Given the description of an element on the screen output the (x, y) to click on. 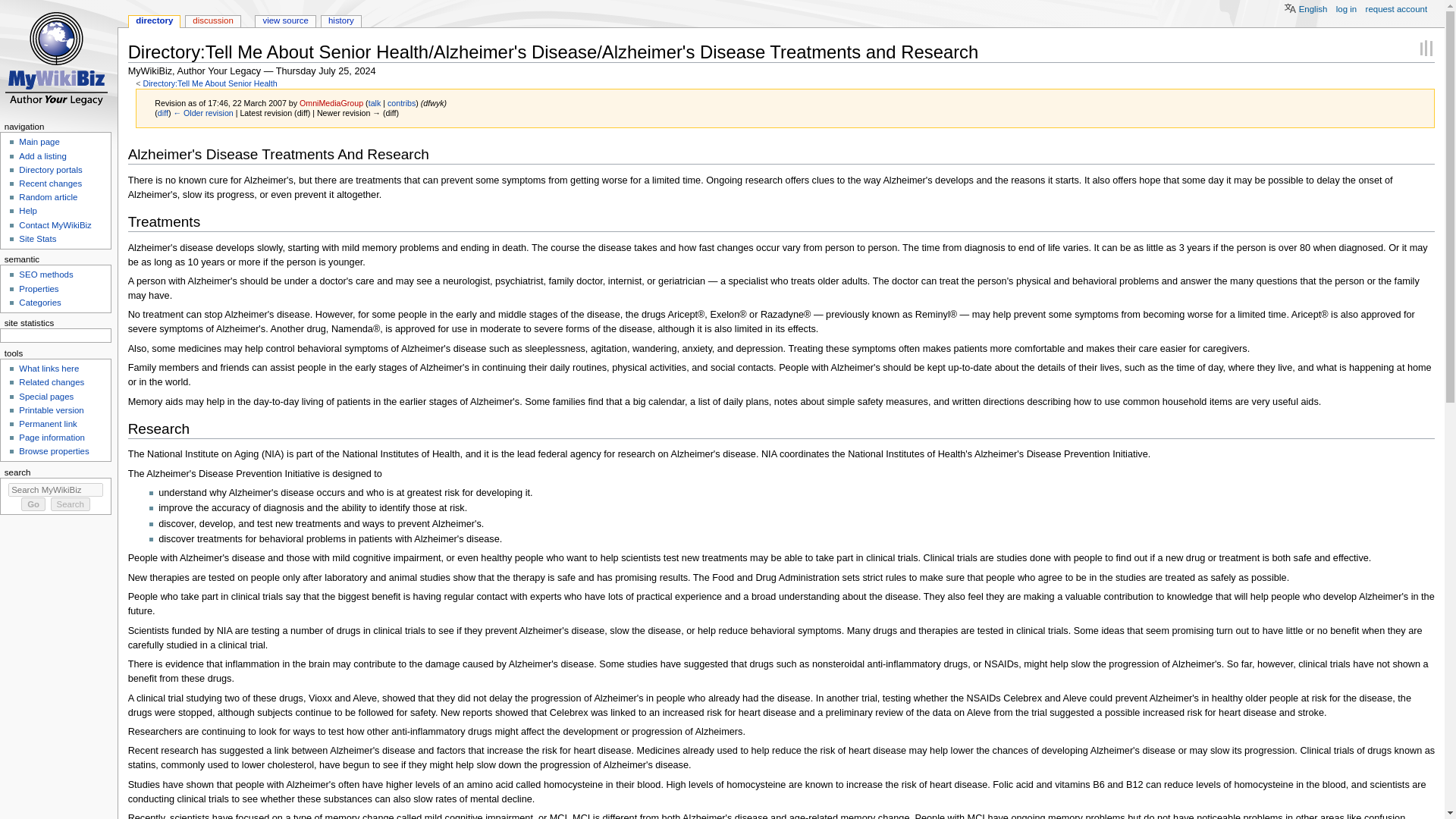
request account (1396, 9)
OmniMediaGroup (330, 102)
history (341, 21)
directory (154, 21)
Main page (38, 141)
talk (374, 102)
Go (33, 504)
Directory:Tell Me About Senior Health (209, 82)
Search (70, 504)
Directory:Tell Me About Senior Health (209, 82)
discussion (213, 21)
Search (70, 504)
Go (33, 504)
English (1298, 8)
